Given the description of an element on the screen output the (x, y) to click on. 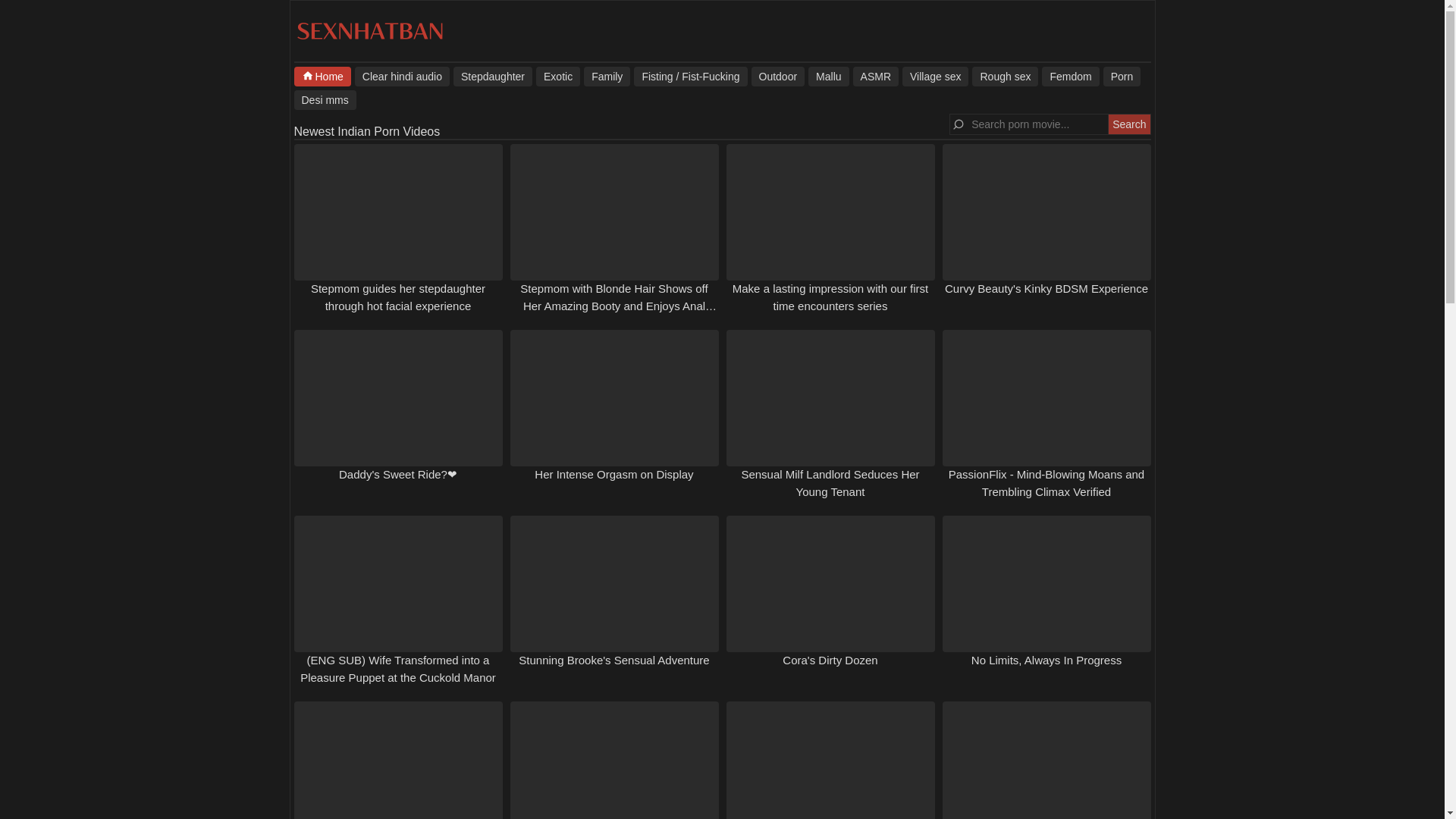
Mallu (828, 76)
Stunning Brooke's Sensual Adventure (613, 659)
Porn (1122, 76)
Rough sex (1005, 76)
Desi mms (325, 99)
Outdoor (778, 76)
Porn (1122, 76)
Search (1129, 124)
Village sex (935, 76)
Stepdaughter (492, 76)
Rough sex (1005, 76)
Family (606, 76)
